Given the description of an element on the screen output the (x, y) to click on. 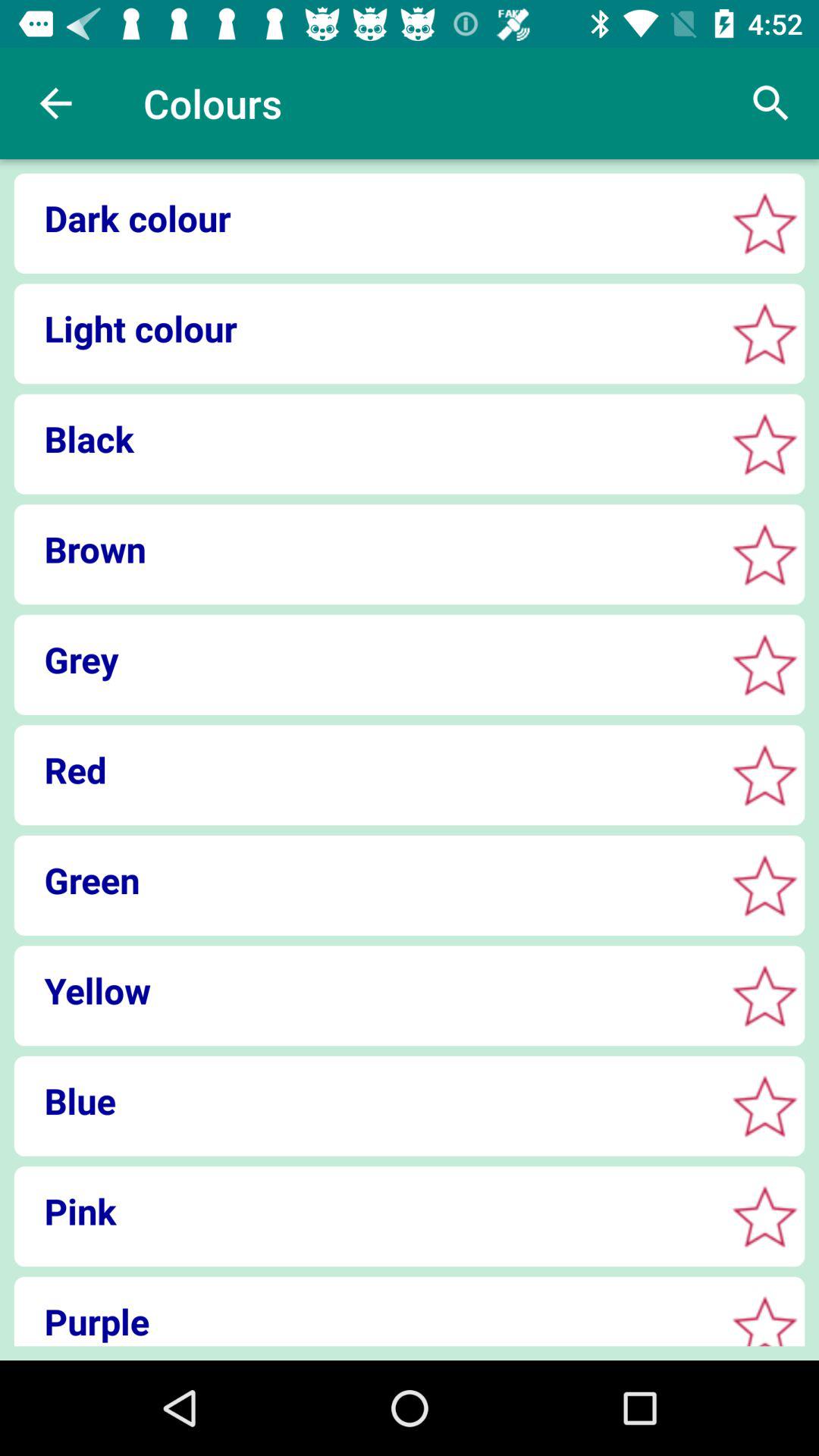
launch icon above the blue item (364, 990)
